Given the description of an element on the screen output the (x, y) to click on. 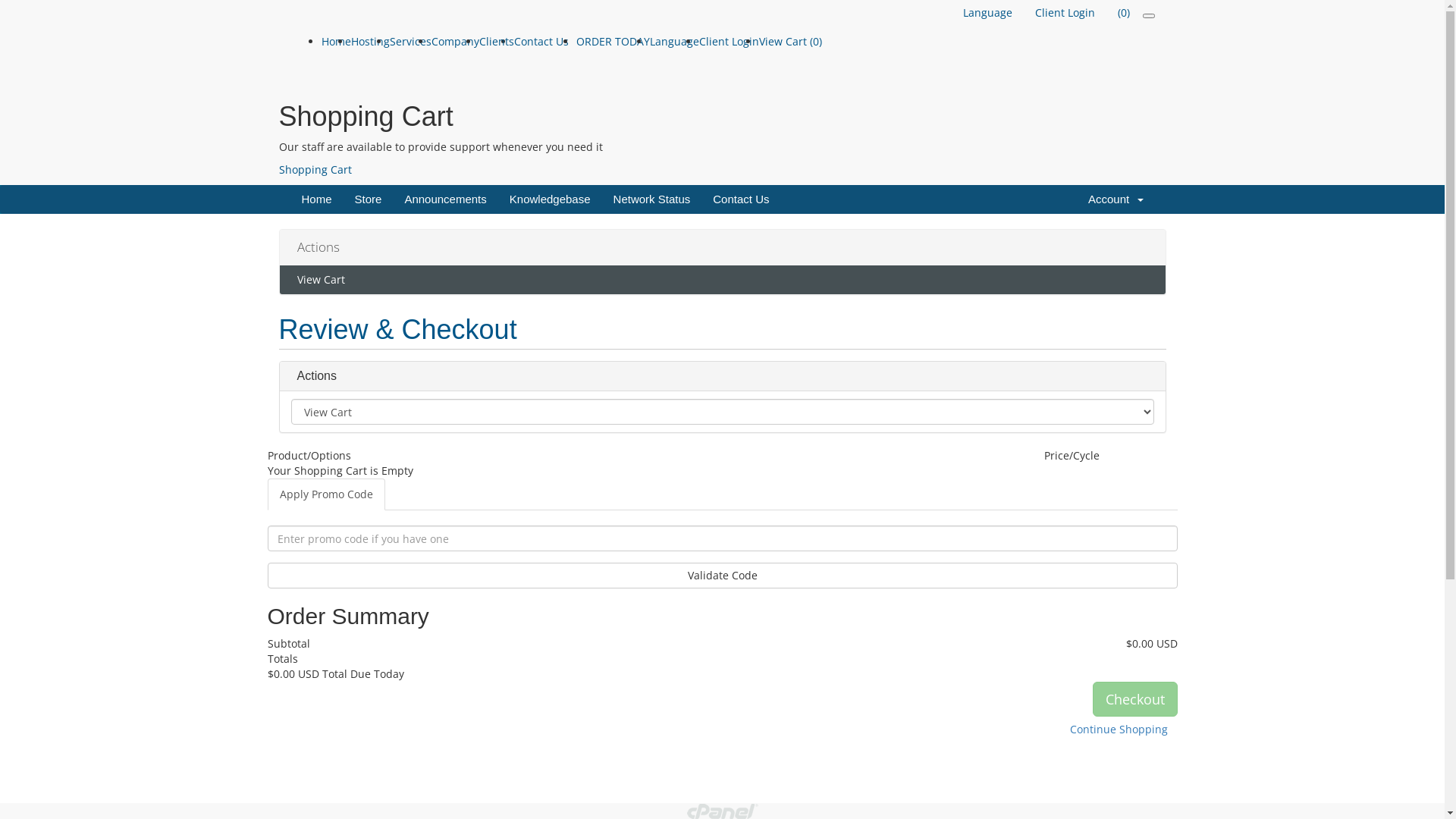
Company Element type: text (454, 40)
Network Status Element type: text (652, 199)
Home Element type: text (336, 40)
Checkout Element type: text (1134, 698)
Client Login Element type: text (1064, 12)
Clients Element type: text (496, 40)
Store Element type: text (368, 199)
Contact Us Element type: text (740, 199)
Contact Us Element type: text (541, 40)
Announcements Element type: text (444, 199)
Continue Shopping Element type: text (1118, 729)
Home Element type: text (315, 199)
Account   Element type: text (1115, 199)
Hosting Element type: text (369, 40)
(0) Element type: text (1123, 12)
Language Element type: text (673, 40)
Shopping Cart Element type: text (315, 169)
Services Element type: text (410, 40)
ORDER TODAY Element type: text (612, 40)
Apply Promo Code Element type: text (325, 494)
Knowledgebase Element type: text (550, 199)
View Cart (0) Element type: text (789, 40)
Language Element type: text (986, 12)
Client Login Element type: text (729, 40)
Validate Code Element type: text (721, 575)
  View Cart Element type: text (721, 279)
